Given the description of an element on the screen output the (x, y) to click on. 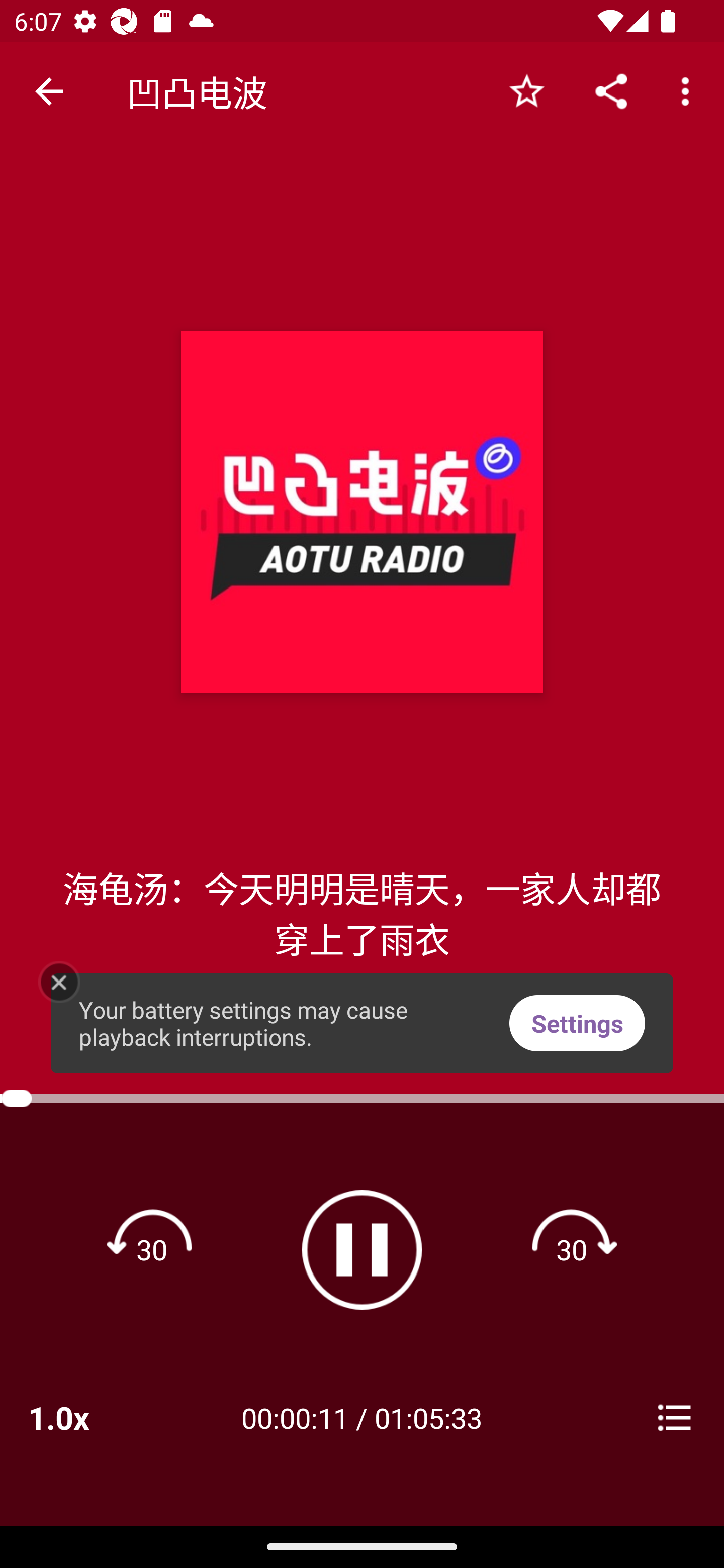
Navigate up (49, 91)
Add to Favorites (526, 90)
Share... (611, 90)
More options (688, 90)
Settings (576, 1023)
Pause (361, 1249)
Rewind (151, 1249)
Fast forward (571, 1249)
1.0x Playback Speeds (84, 1417)
01:05:33 (428, 1417)
